Given the description of an element on the screen output the (x, y) to click on. 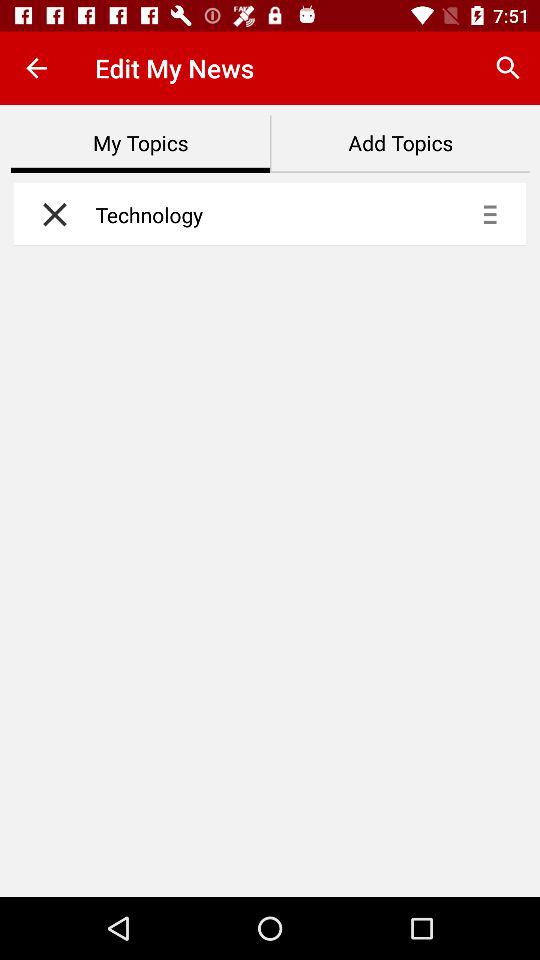
close (49, 214)
